Given the description of an element on the screen output the (x, y) to click on. 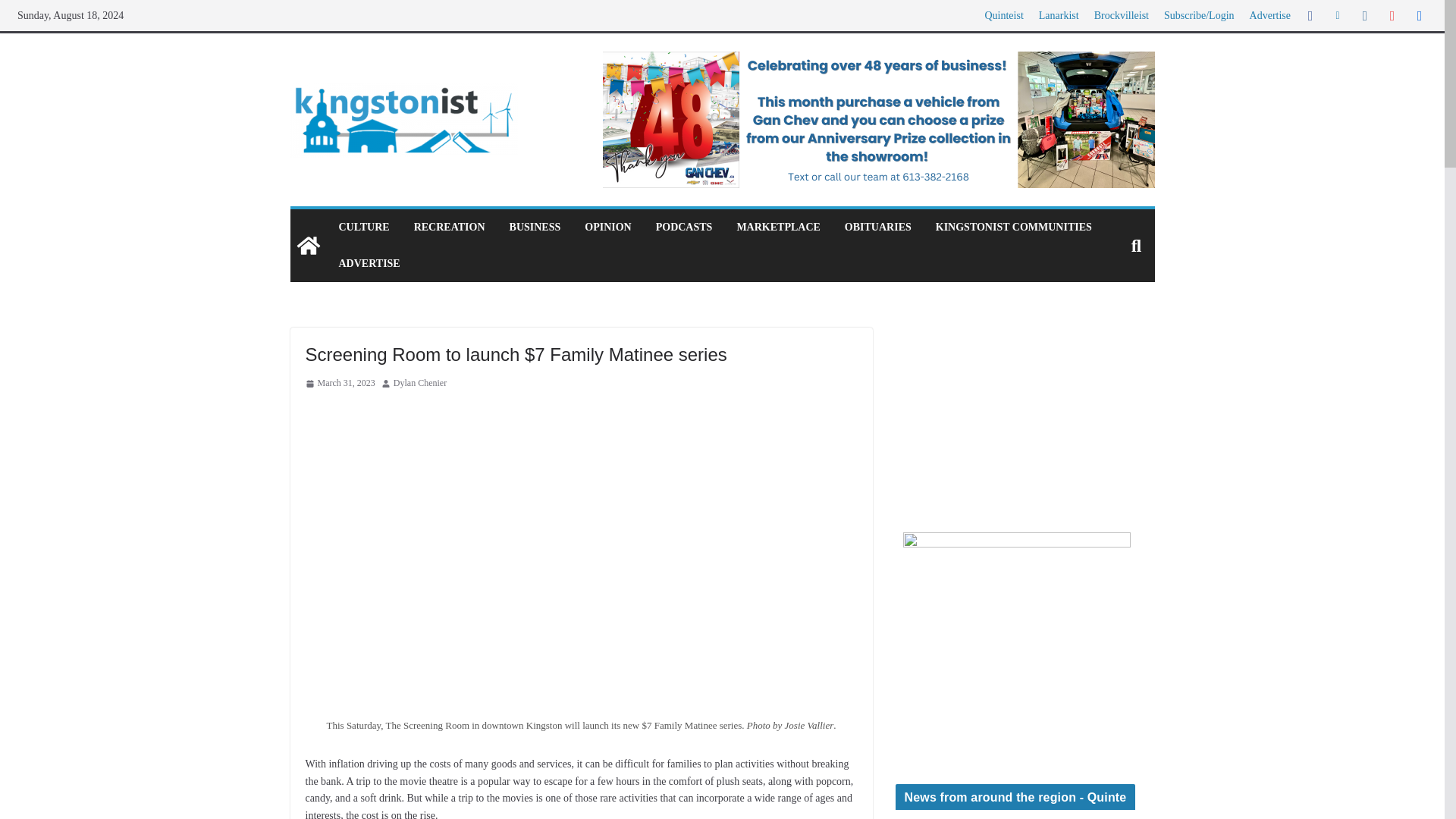
PODCASTS (684, 227)
ADVERTISE (367, 263)
RECREATION (448, 227)
Dylan Chenier (419, 383)
OBITUARIES (877, 227)
KINGSTONIST COMMUNITIES (1014, 227)
Advertise (1269, 15)
BUSINESS (534, 227)
MARKETPLACE (777, 227)
Quinteist (1003, 15)
